Given the description of an element on the screen output the (x, y) to click on. 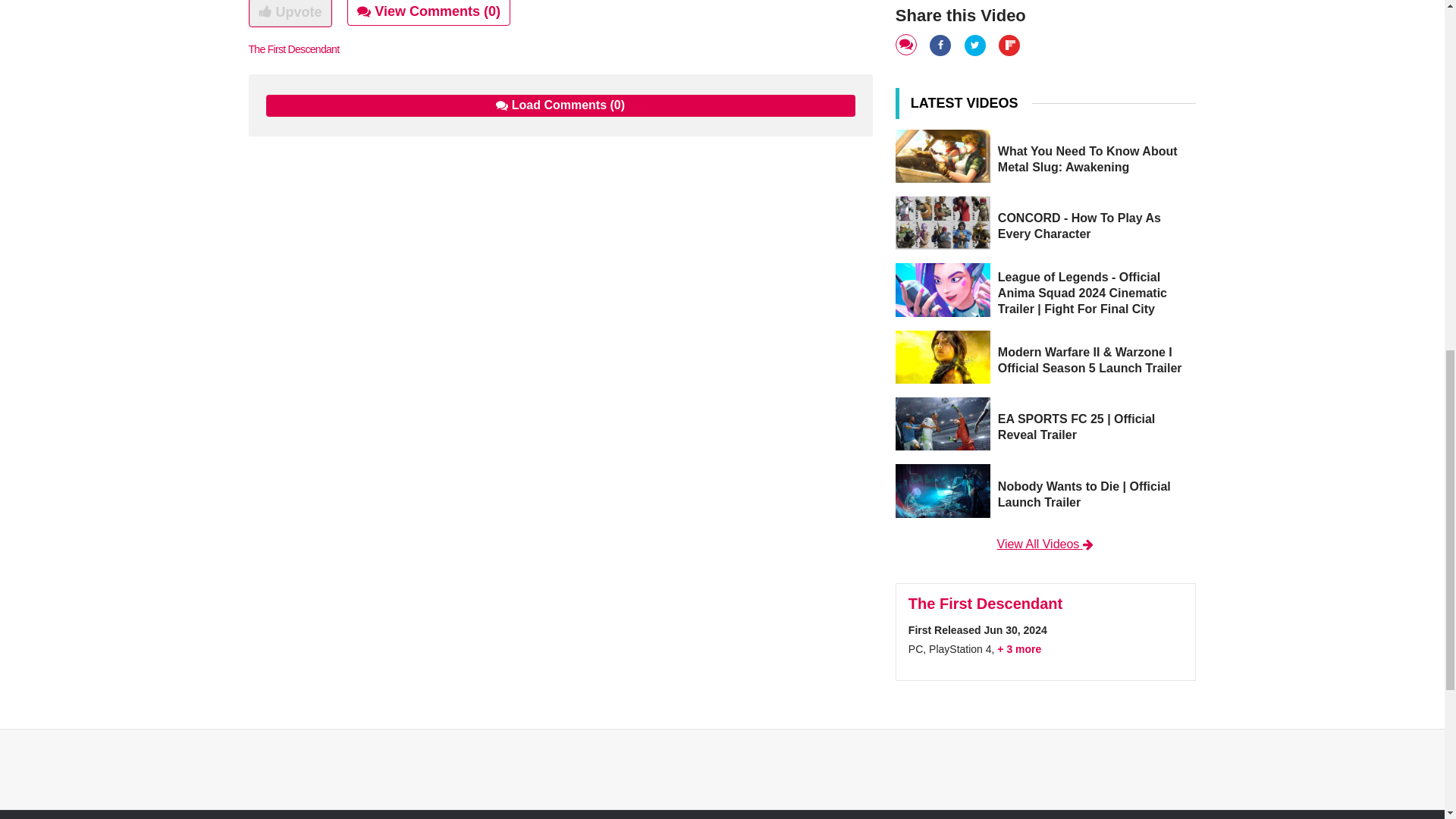
Facebook (941, 44)
Twitter (975, 44)
Comment (906, 45)
Flipboard (1010, 44)
